Given the description of an element on the screen output the (x, y) to click on. 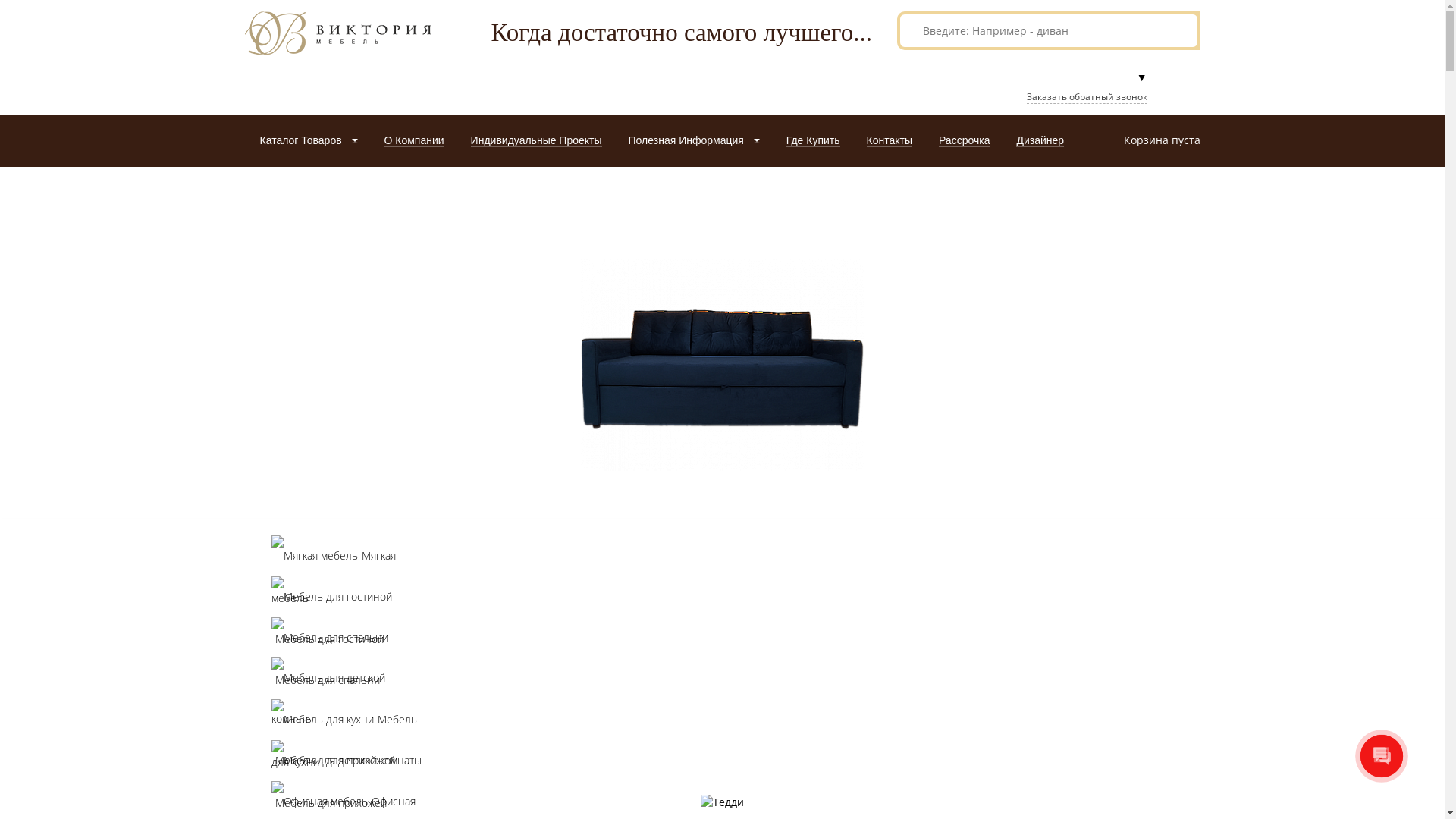
+375 (33) 66 99 122 Element type: text (1080, 40)
